Given the description of an element on the screen output the (x, y) to click on. 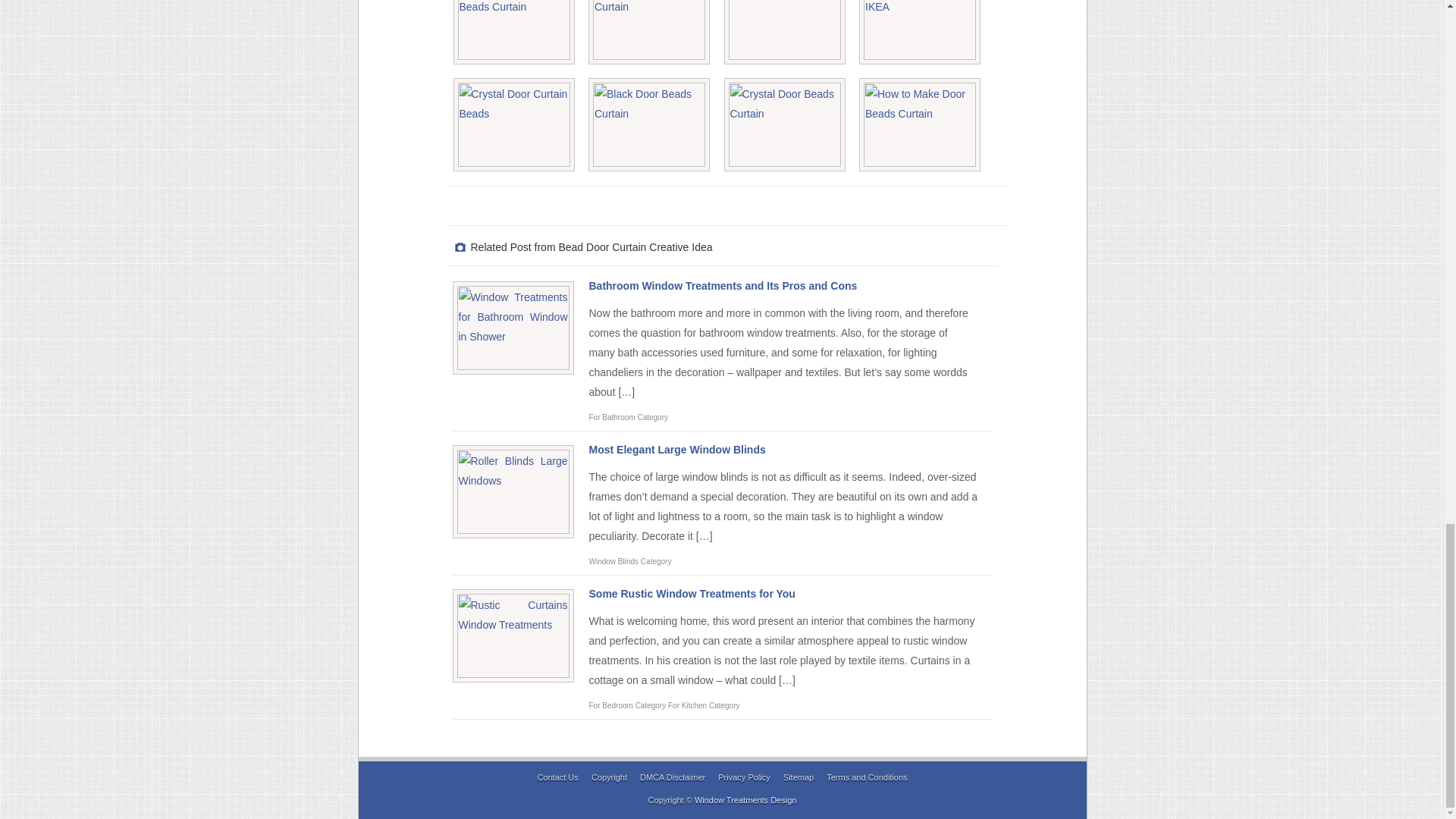
Most Elegant Large Window Blinds (676, 449)
Contact Us (557, 777)
Terms and Conditions (867, 777)
Most Elegant Large Window Blinds (676, 449)
Some Rustic Window Treatments for You (691, 593)
Some Rustic Window Treatments for You (691, 593)
Sitemap (798, 777)
Window Treatments Design (745, 799)
Privacy Policy (743, 777)
Bathroom Window Treatments and Its Pros and Cons (722, 285)
DMCA Disclaimer (672, 777)
Bathroom Window Treatments and Its Pros and Cons (722, 285)
Copyright (609, 777)
